Given the description of an element on the screen output the (x, y) to click on. 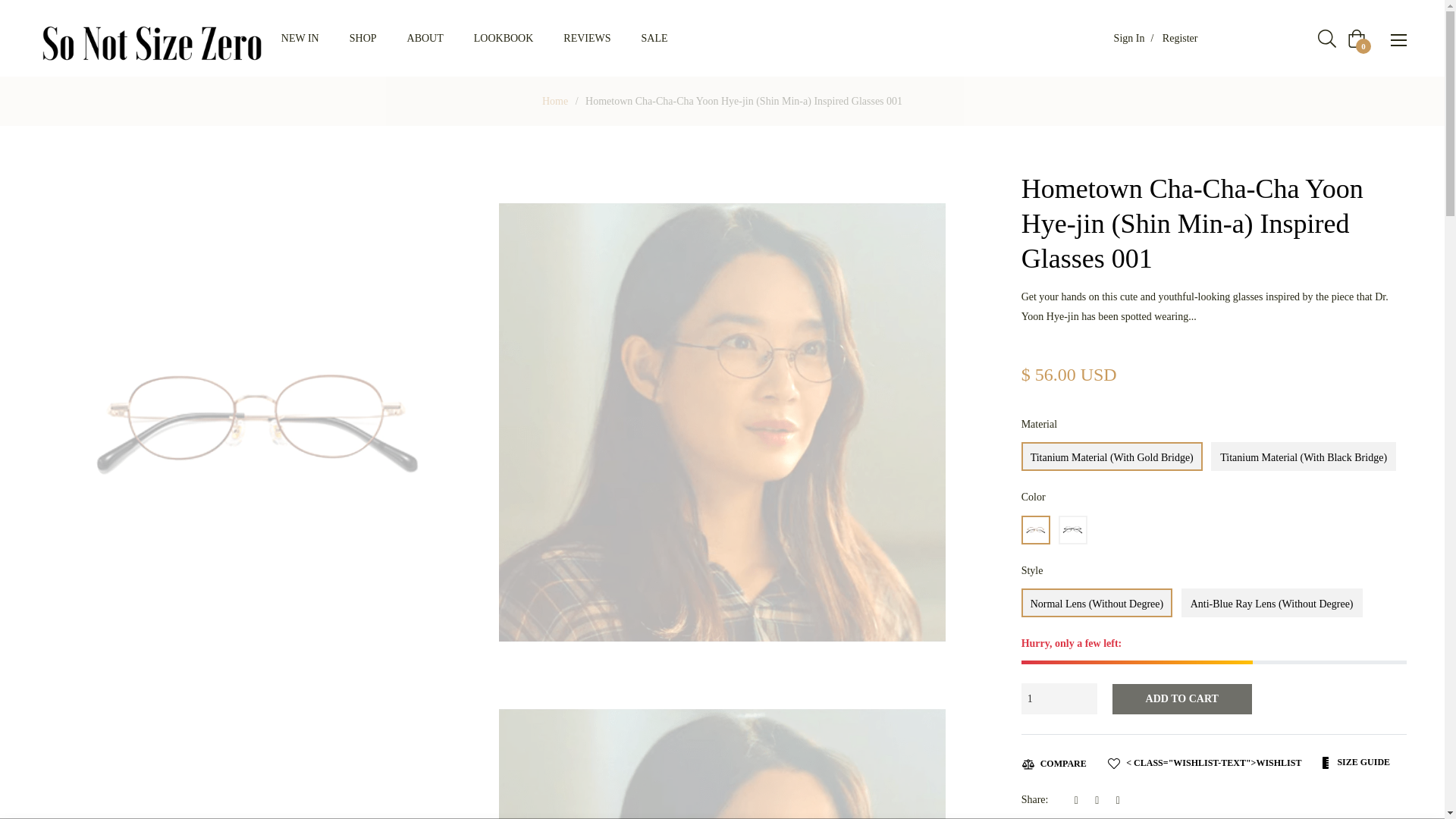
Wishlist (1204, 762)
NEW IN (300, 38)
Compare (1054, 763)
Home (555, 101)
Share on Facebook (1080, 799)
1 (1059, 698)
Pin on Pinterest (1121, 799)
Tweet on Twitter (1101, 799)
Black (1072, 529)
Shopping Cart (1356, 38)
